Given the description of an element on the screen output the (x, y) to click on. 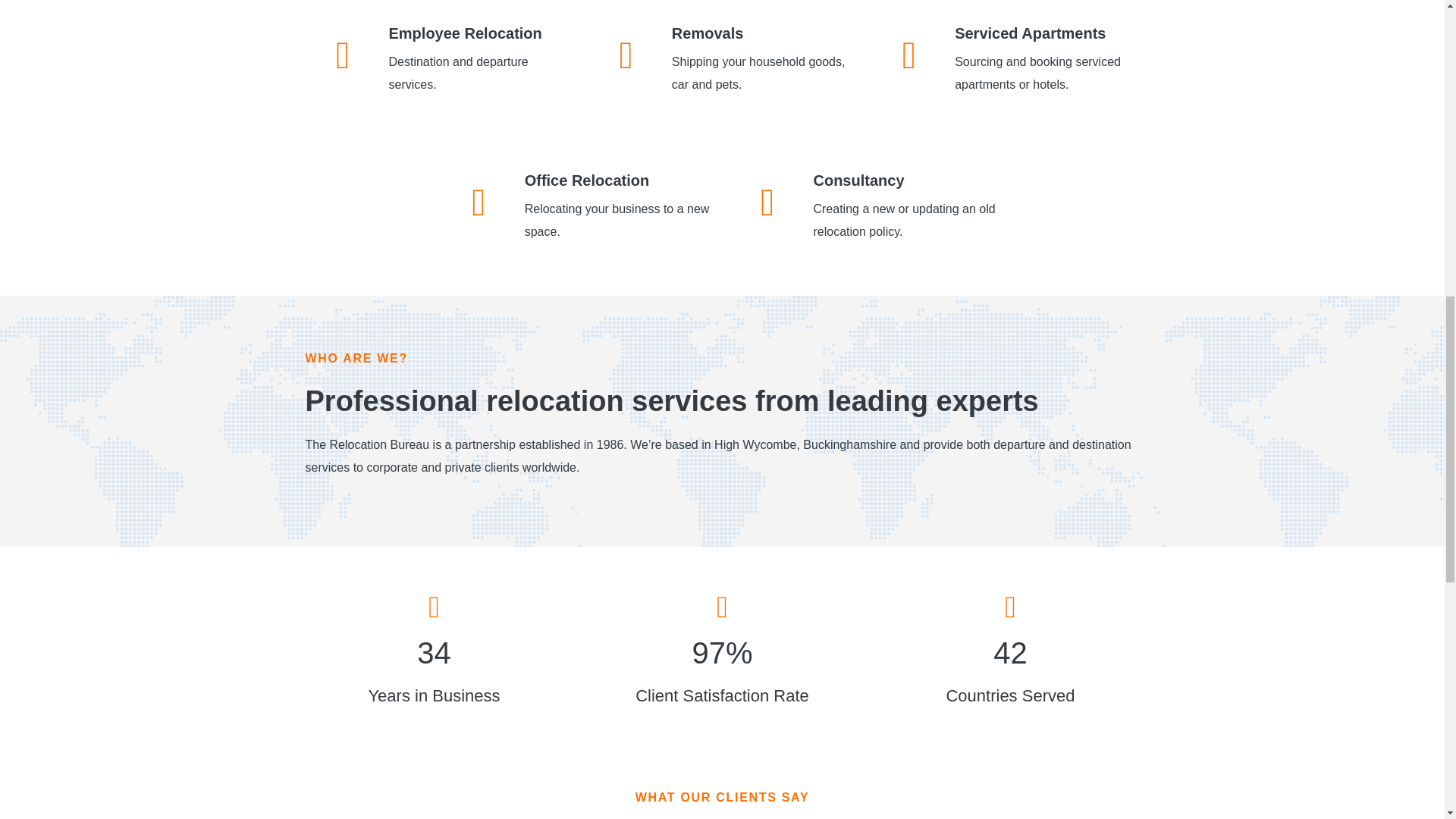
Removals (707, 33)
Employee Relocation (464, 33)
Serviced Apartments (1030, 33)
Office Relocation (586, 180)
Consultancy (858, 180)
